Given the description of an element on the screen output the (x, y) to click on. 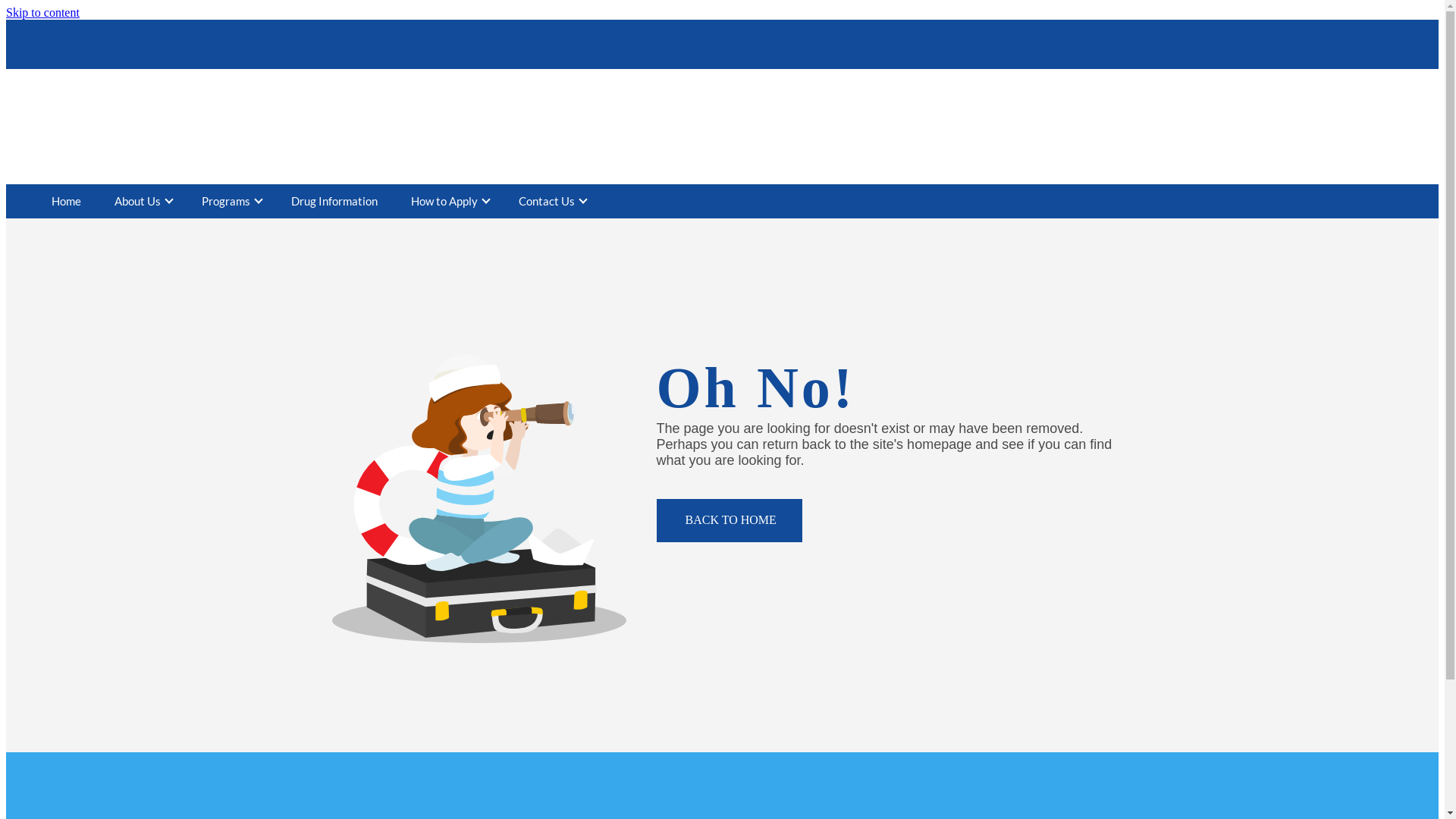
About Us Element type: text (137, 201)
Programs Element type: text (225, 201)
Home Element type: text (66, 201)
BACK TO HOME Element type: text (729, 520)
Contact Us Element type: text (546, 201)
Drug Information Element type: text (334, 201)
Skip to content Element type: text (42, 12)
How to Apply Element type: text (444, 201)
